Given the description of an element on the screen output the (x, y) to click on. 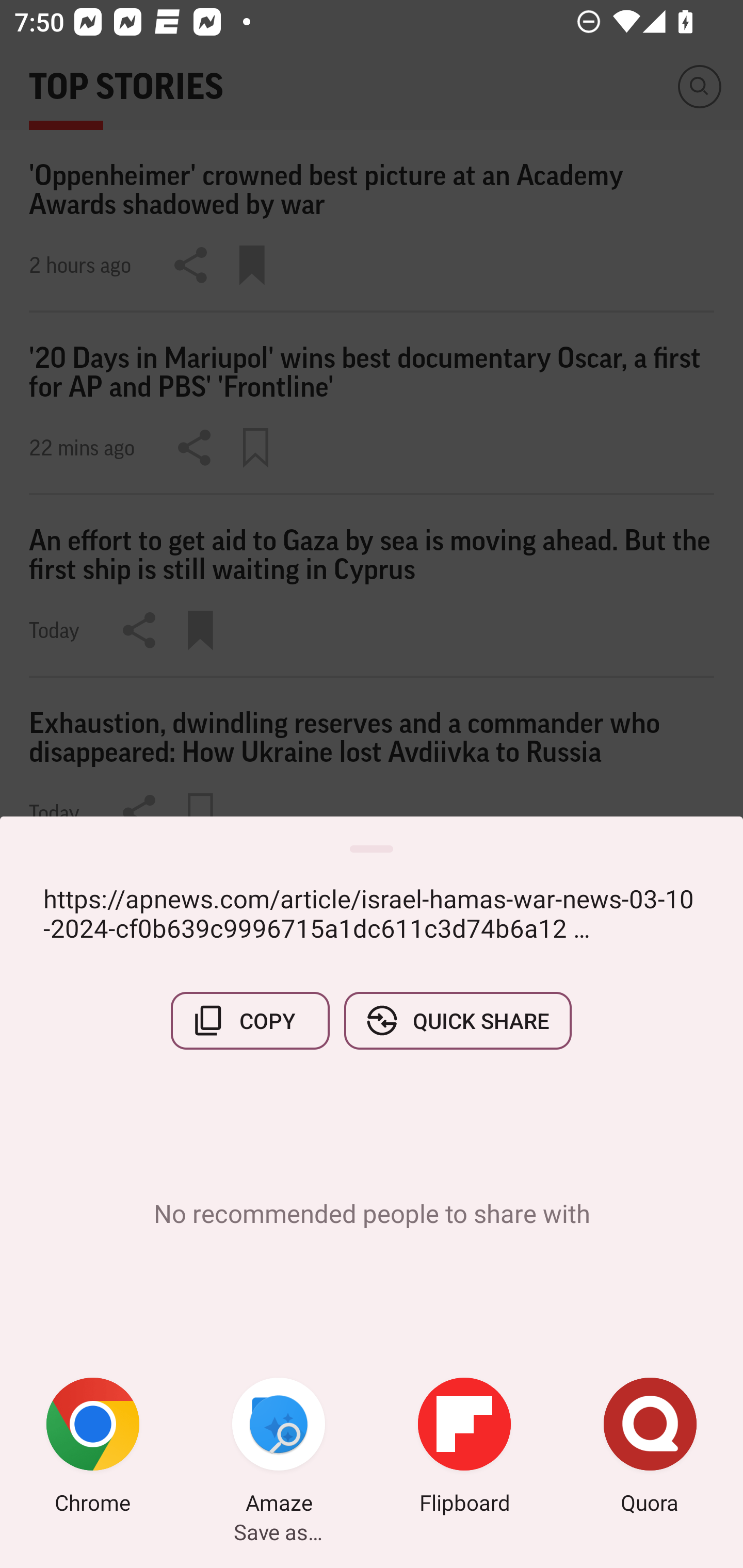
COPY (249, 1020)
QUICK SHARE (457, 1020)
Chrome (92, 1448)
Amaze Save as… (278, 1448)
Flipboard (464, 1448)
Quora (650, 1448)
